Given the description of an element on the screen output the (x, y) to click on. 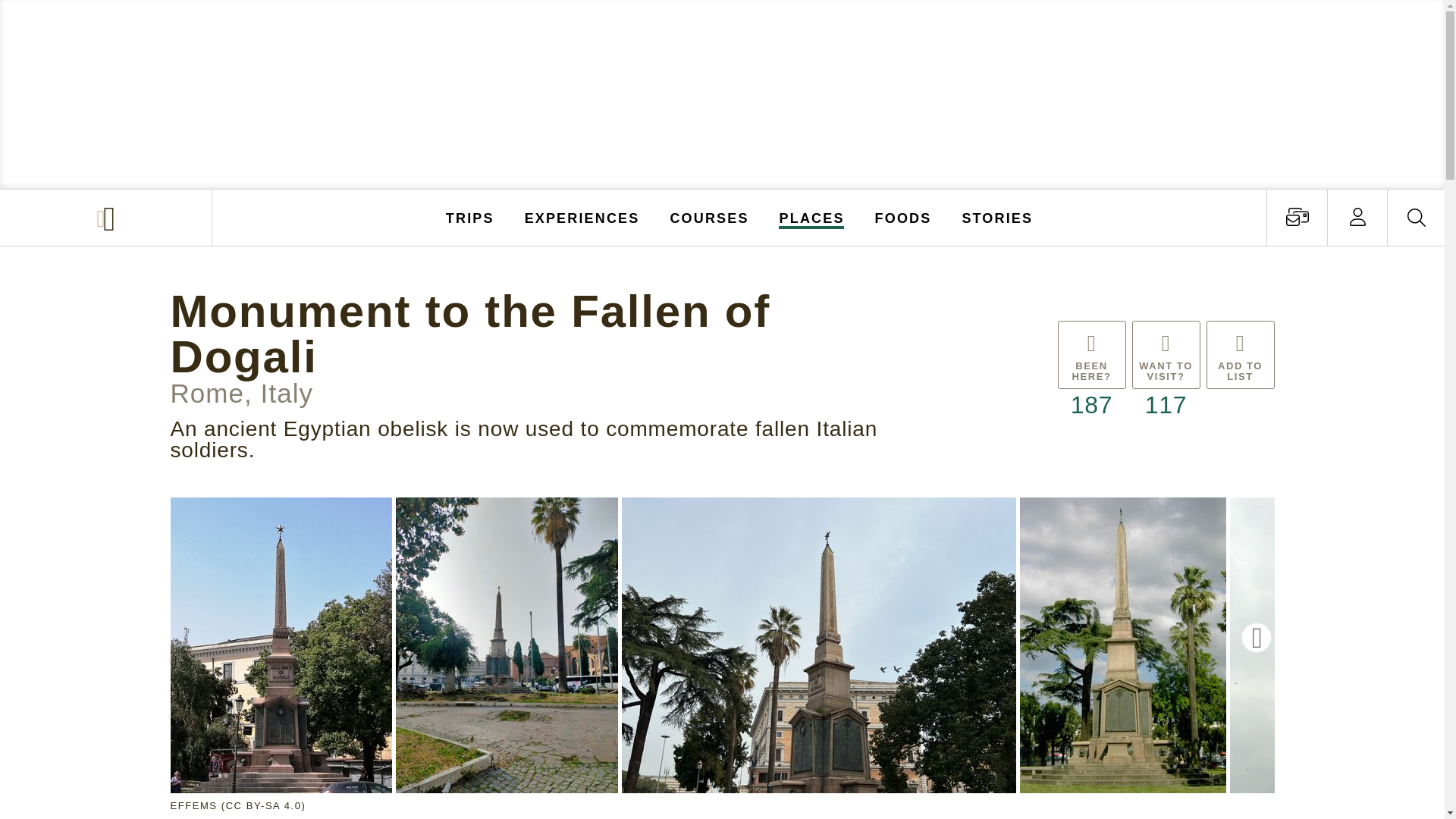
COURSES (707, 217)
EXPERIENCES (582, 217)
PLACES (812, 217)
Add to list (1239, 372)
TRIPS (469, 217)
